Given the description of an element on the screen output the (x, y) to click on. 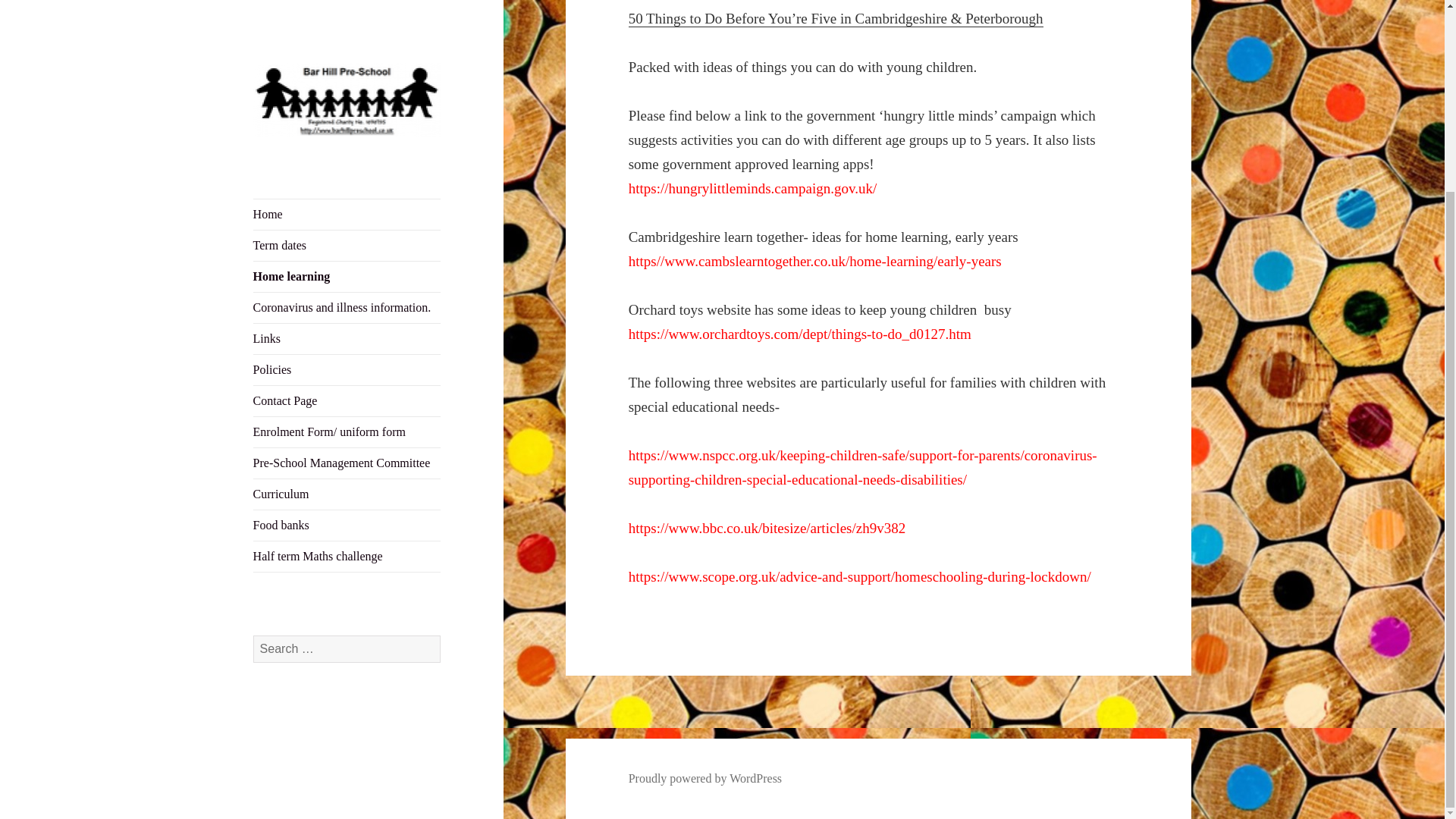
Food banks (347, 286)
Contact Page (347, 161)
Curriculum (347, 254)
Policies (347, 130)
Links (347, 99)
Pre-School Management Committee (347, 223)
Proudly powered by WordPress (704, 778)
Home learning (347, 37)
Term dates (347, 10)
Coronavirus and illness information. (347, 68)
Half term Maths challenge (347, 317)
